Given the description of an element on the screen output the (x, y) to click on. 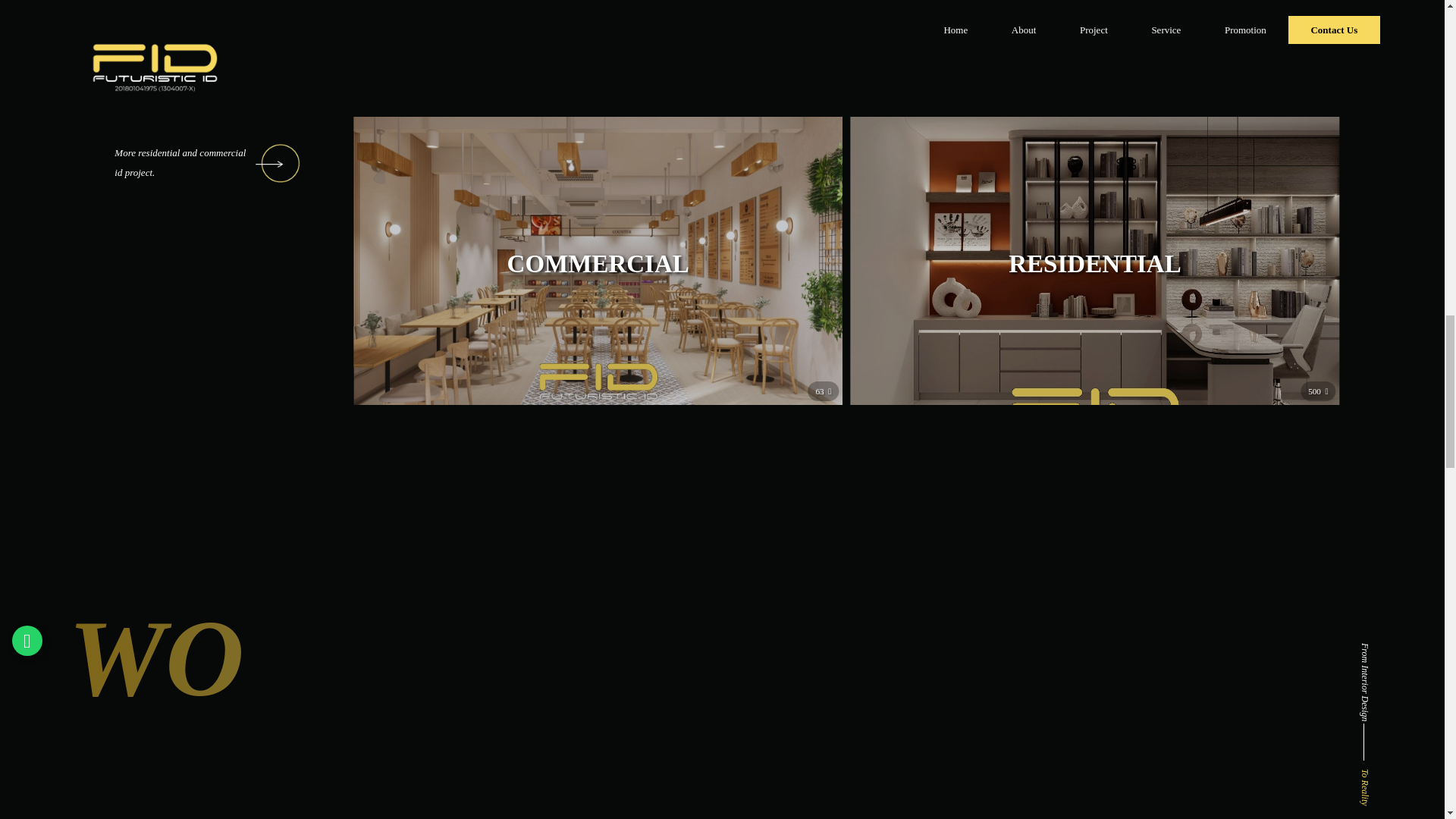
More residential and commercial id project. (220, 162)
